Given the description of an element on the screen output the (x, y) to click on. 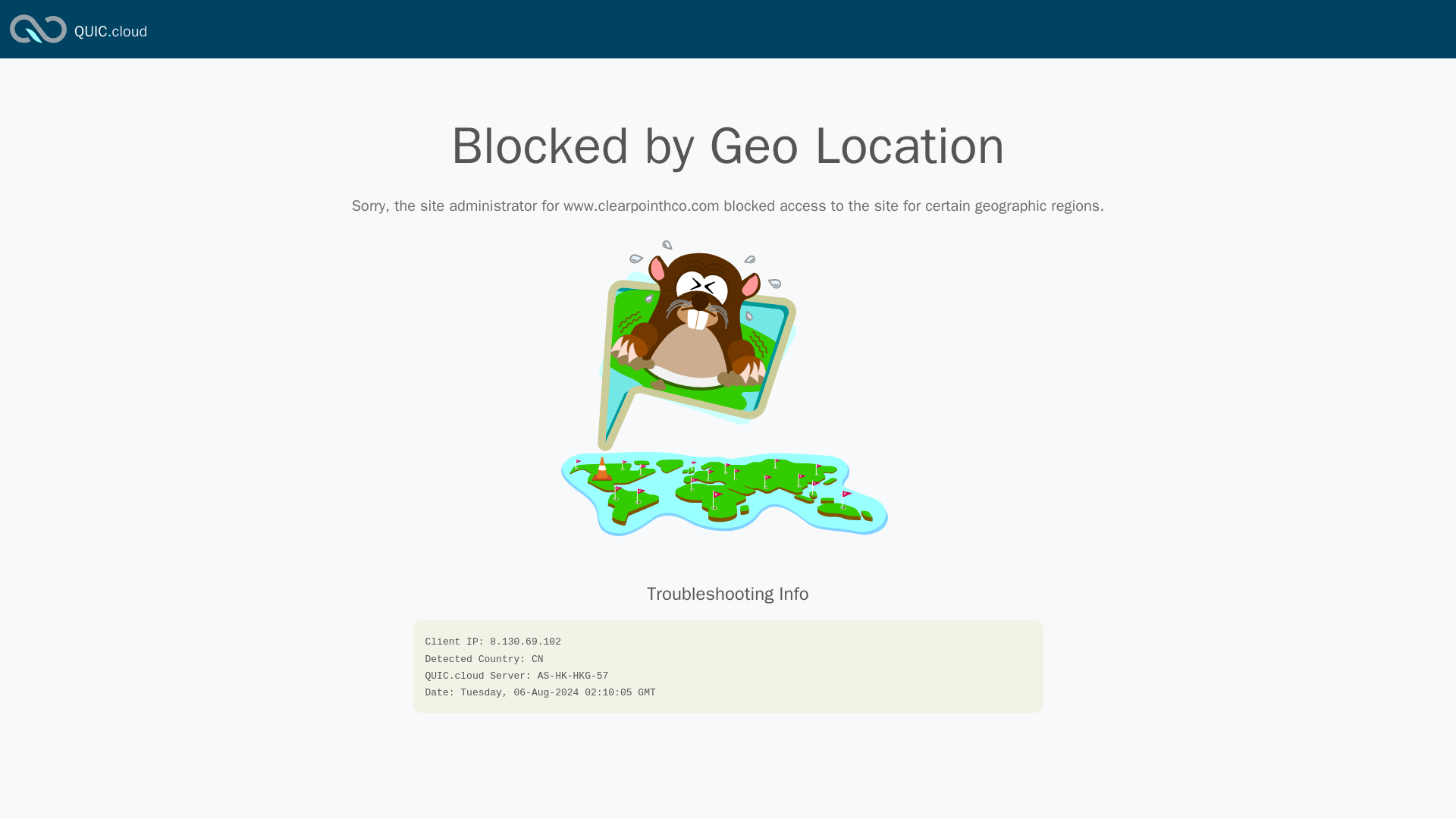
QUIC.cloud (110, 31)
QUIC.cloud (37, 43)
QUIC.cloud (110, 31)
